Given the description of an element on the screen output the (x, y) to click on. 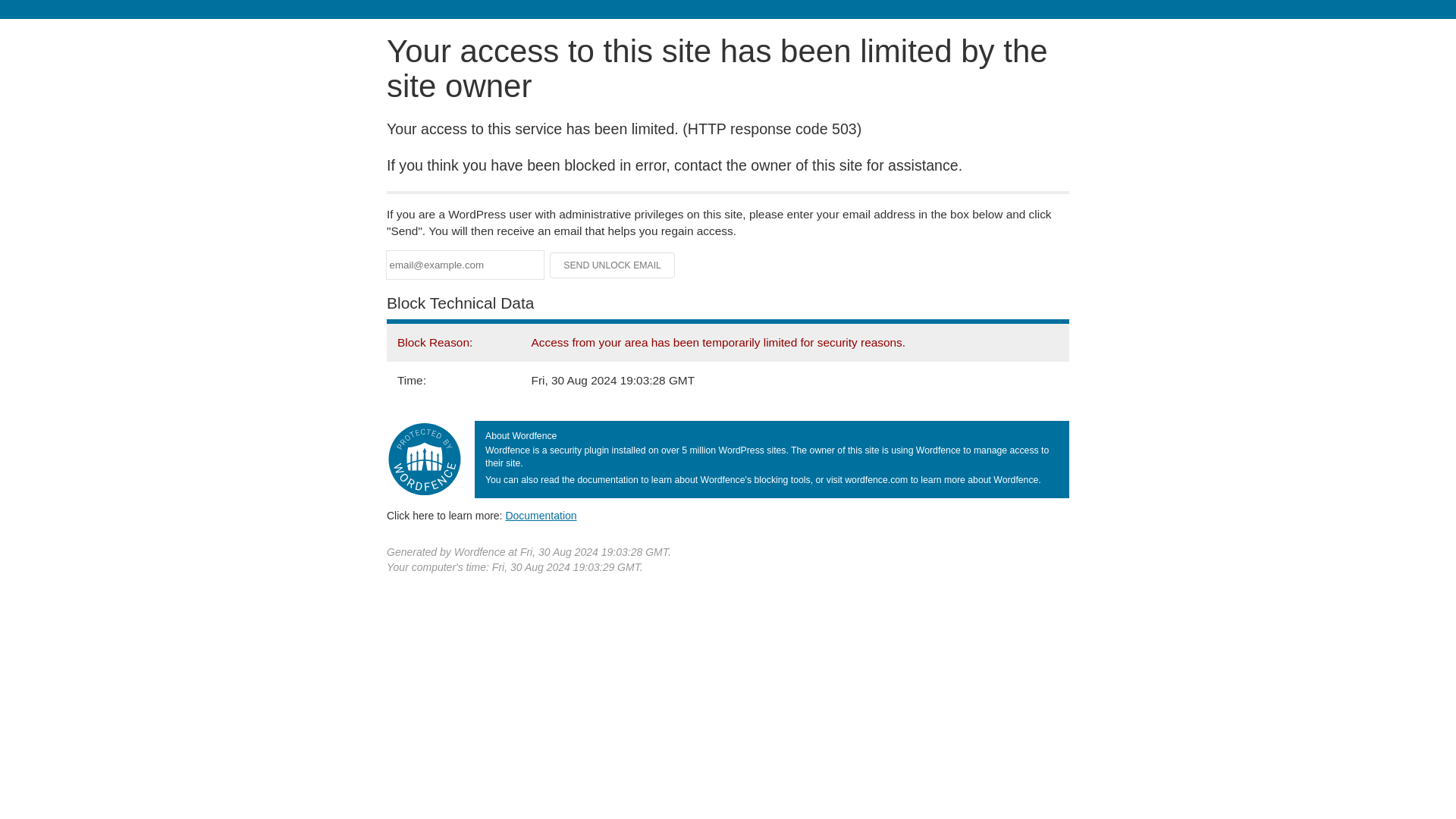
Send Unlock Email (612, 265)
Send Unlock Email (612, 265)
Documentation (540, 515)
